Given the description of an element on the screen output the (x, y) to click on. 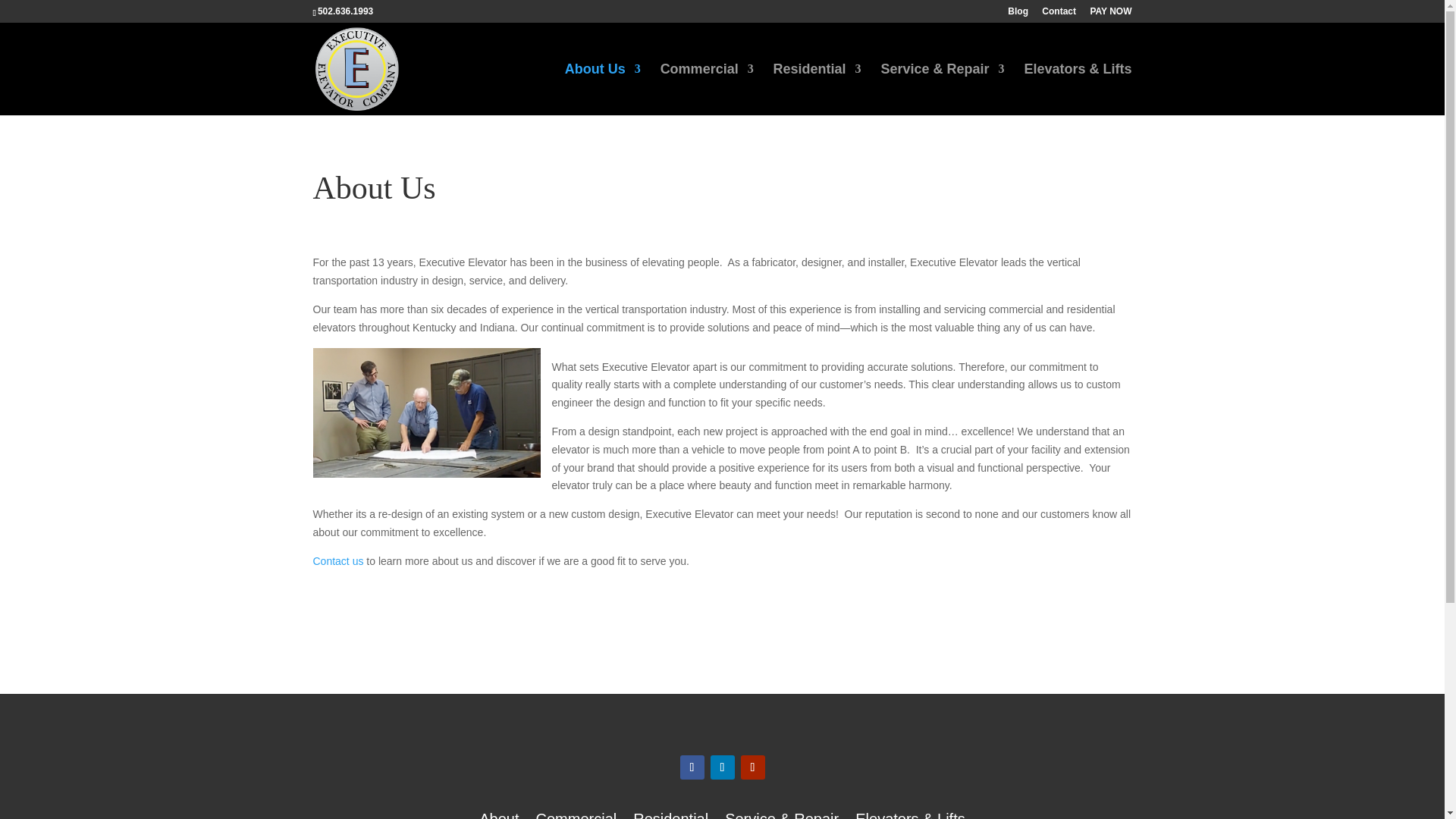
Follow on Facebook (691, 767)
About Us (602, 89)
Residential (817, 89)
Commercial (576, 816)
Contact (1058, 14)
Residential (670, 816)
Follow on Youtube (751, 767)
Contact us (337, 561)
Blog (1017, 14)
About (498, 816)
